Given the description of an element on the screen output the (x, y) to click on. 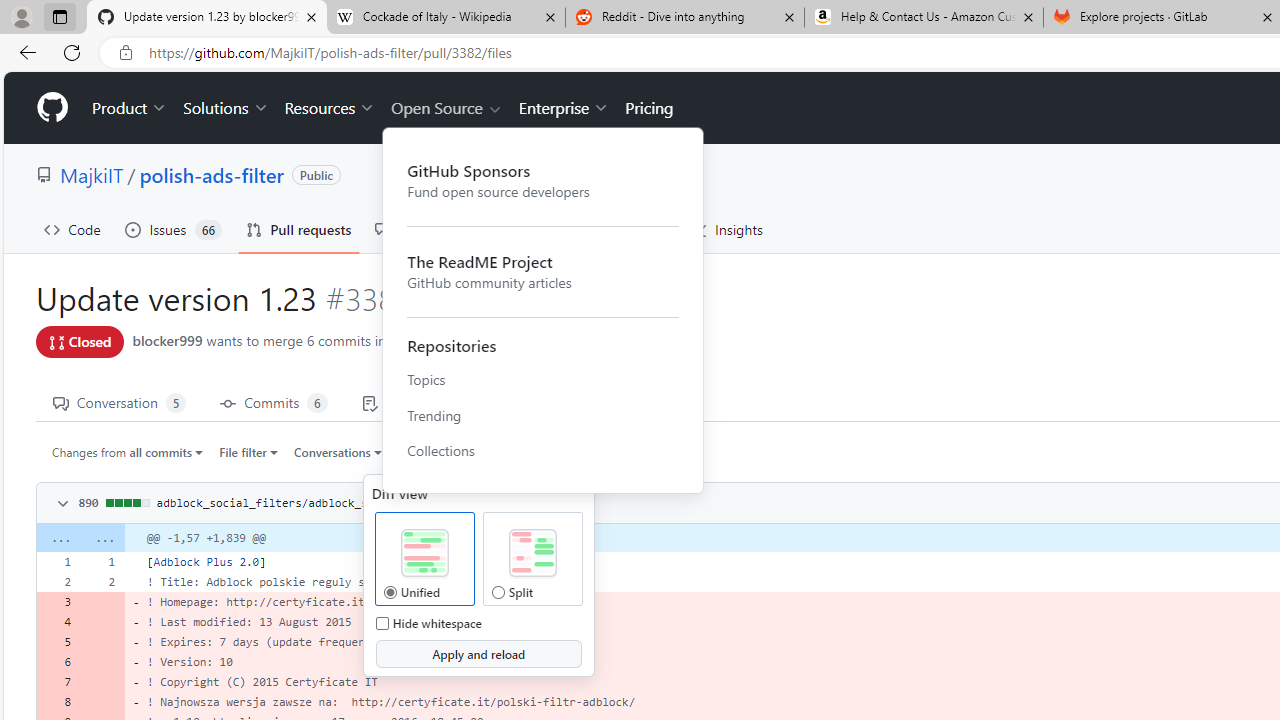
Product (130, 107)
polish-ads-filter (211, 174)
 Commits 6 (274, 401)
Pricing (649, 107)
5 (58, 642)
Help & Contact Us - Amazon Customer Service (924, 17)
